Given the description of an element on the screen output the (x, y) to click on. 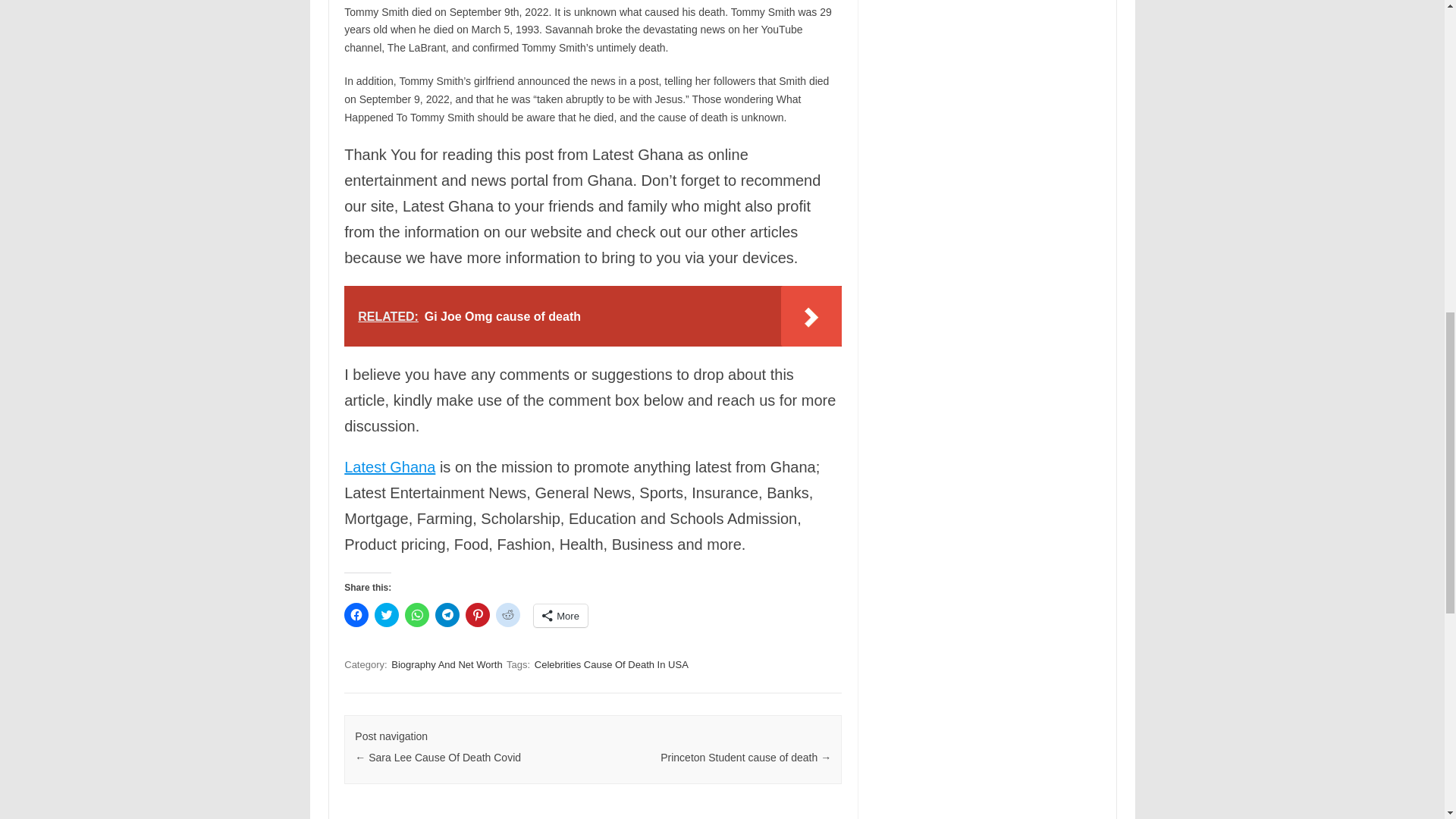
Latest Ghana (389, 466)
RELATED:  Gi Joe Omg cause of death (592, 315)
Click to share on WhatsApp (416, 614)
Click to share on Twitter (386, 614)
Click to share on Reddit (507, 614)
Click to share on Pinterest (477, 614)
More (561, 615)
Click to share on Telegram (447, 614)
Biography And Net Worth (446, 664)
Click to share on Facebook (355, 614)
